Given the description of an element on the screen output the (x, y) to click on. 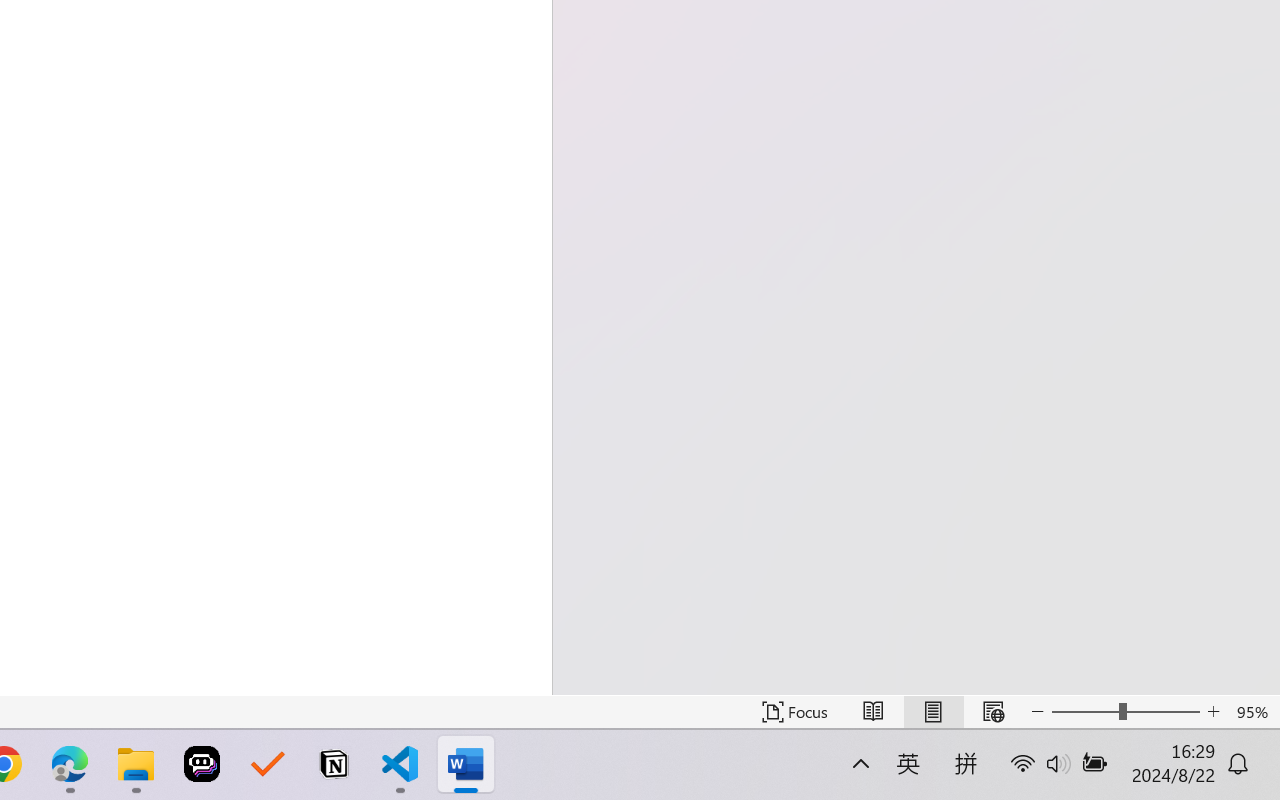
Poe (201, 764)
